Given the description of an element on the screen output the (x, y) to click on. 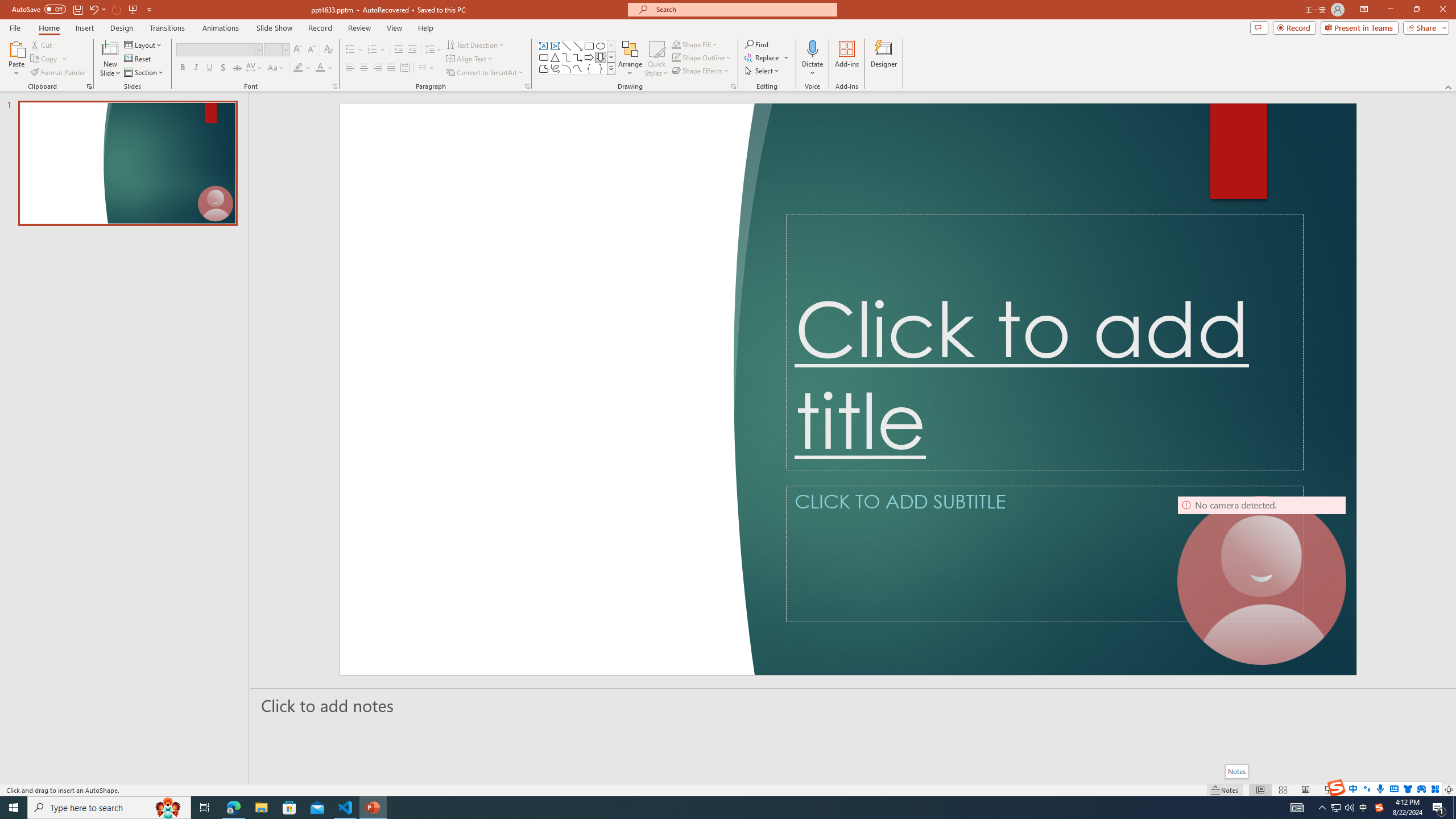
Zoom 140% (1430, 790)
Notes (1235, 771)
